Given the description of an element on the screen output the (x, y) to click on. 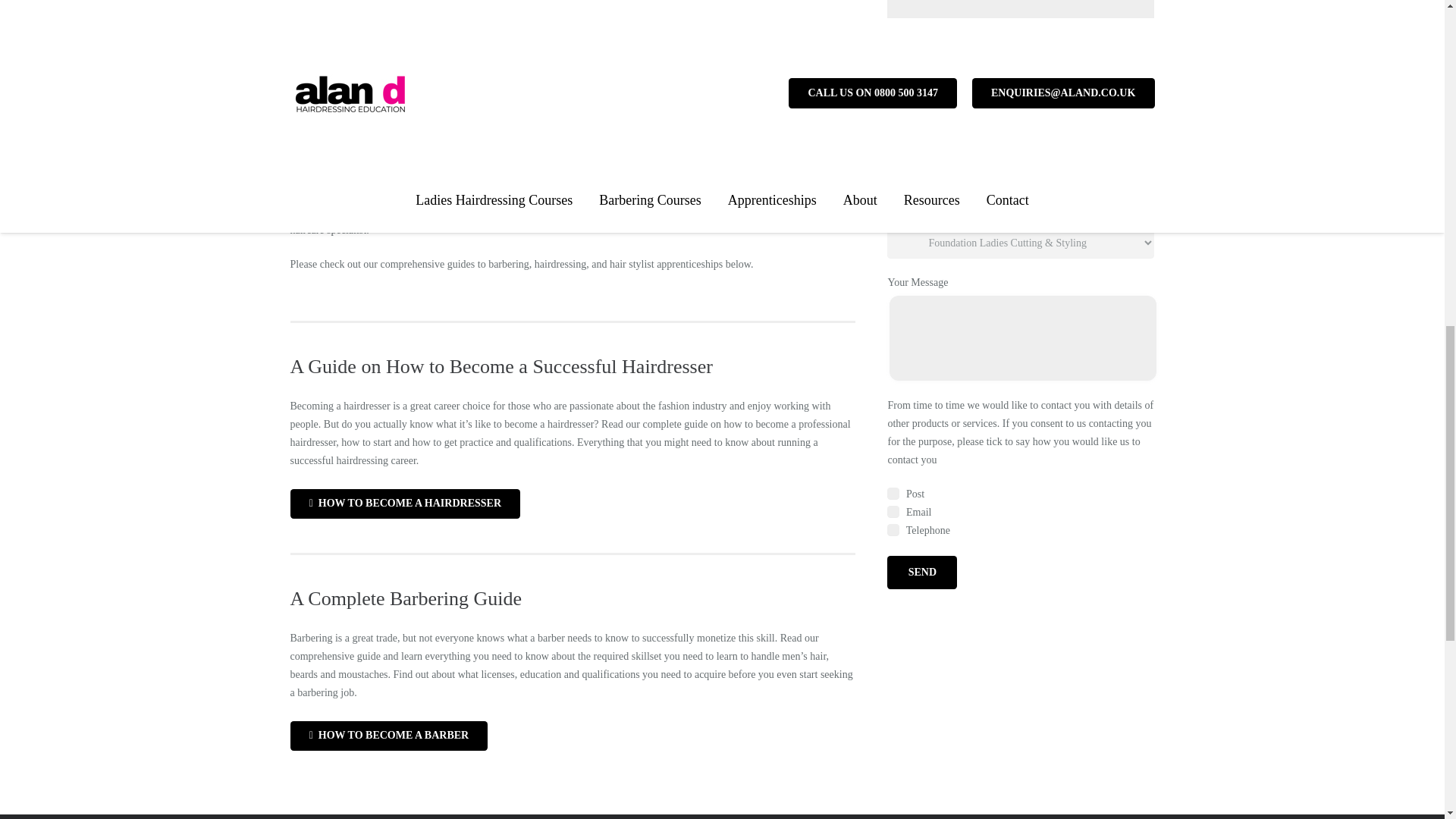
Send (921, 572)
Post (892, 493)
Telephone (892, 530)
Page 1 (572, 665)
Page 1 (572, 433)
Page 1 (572, 202)
Email (892, 511)
